Given the description of an element on the screen output the (x, y) to click on. 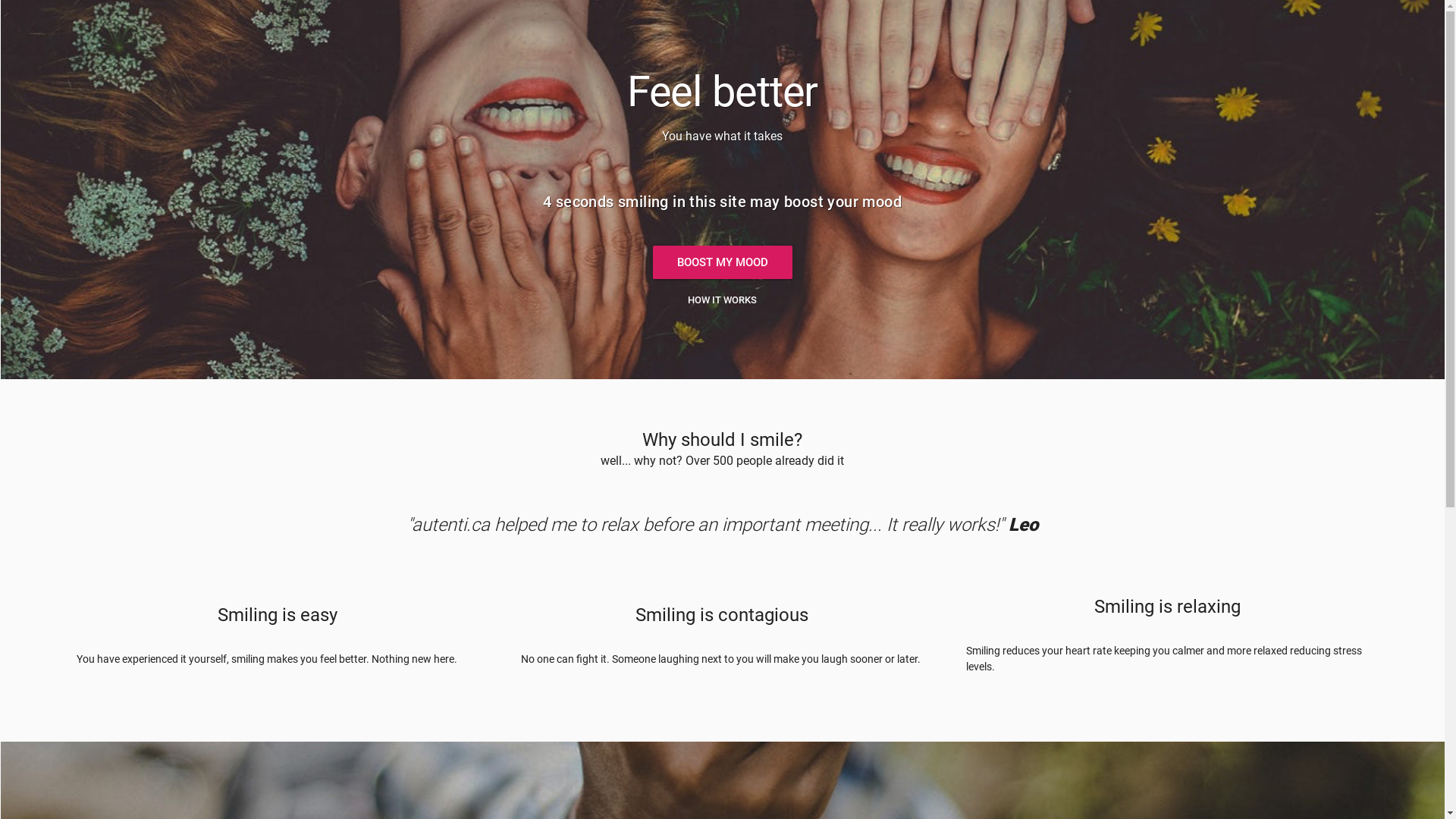
BOOST MY MOOD Element type: text (721, 262)
HOW IT WORKS Element type: text (721, 299)
